Given the description of an element on the screen output the (x, y) to click on. 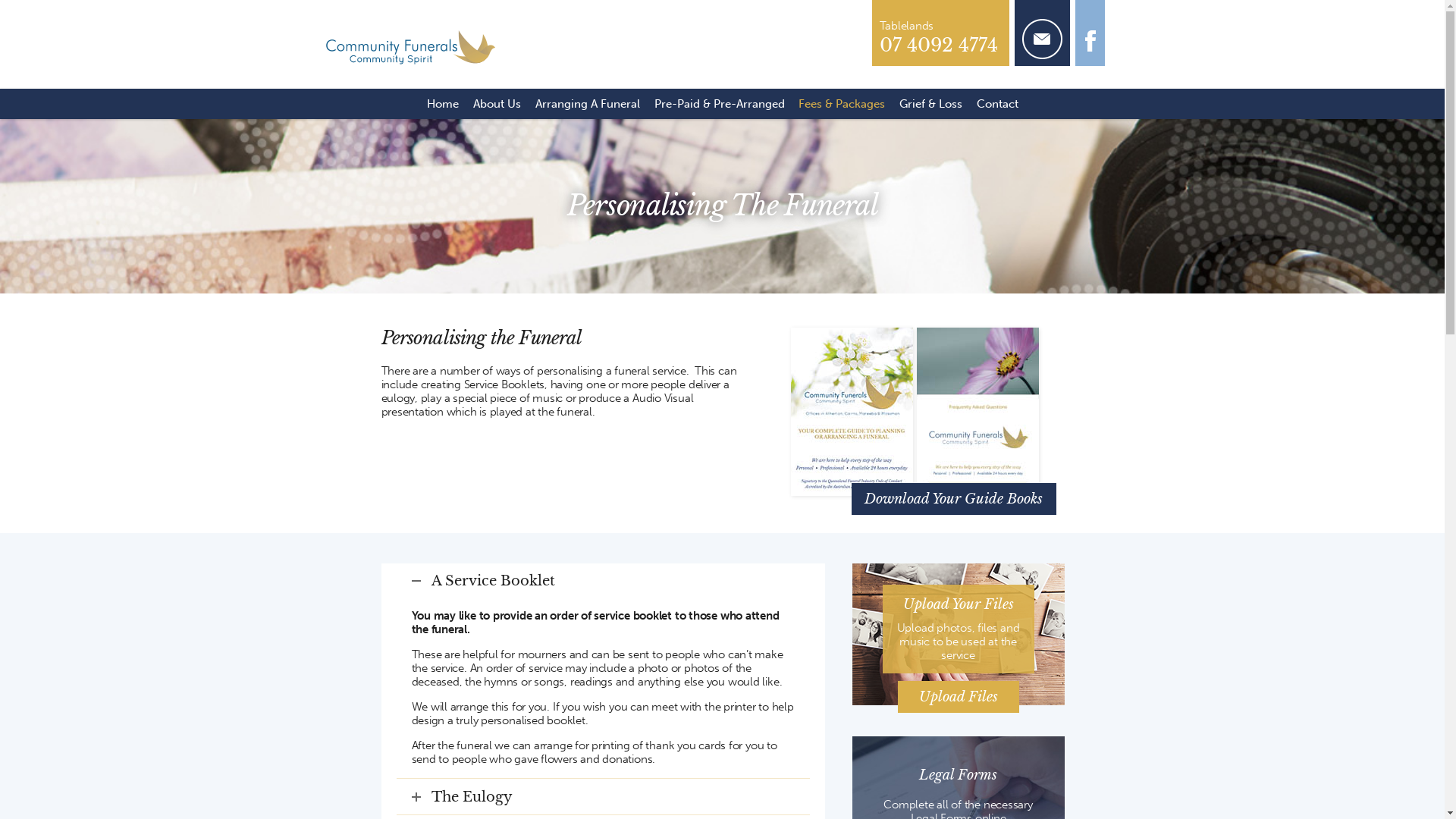
Arranging A Funeral Element type: text (586, 103)
Download Your Guide Books Element type: text (952, 498)
Tablelands
07 4092 4774 Element type: text (940, 32)
About Us Element type: text (496, 103)
A Service Booklet Element type: text (602, 580)
Grief & Loss Element type: text (930, 103)
Home Element type: text (442, 103)
Pre-Paid & Pre-Arranged Element type: text (718, 103)
Contact Element type: text (997, 103)
The Eulogy Element type: text (602, 796)
Upload Files Element type: text (958, 696)
Fees & Packages Element type: text (840, 103)
